Given the description of an element on the screen output the (x, y) to click on. 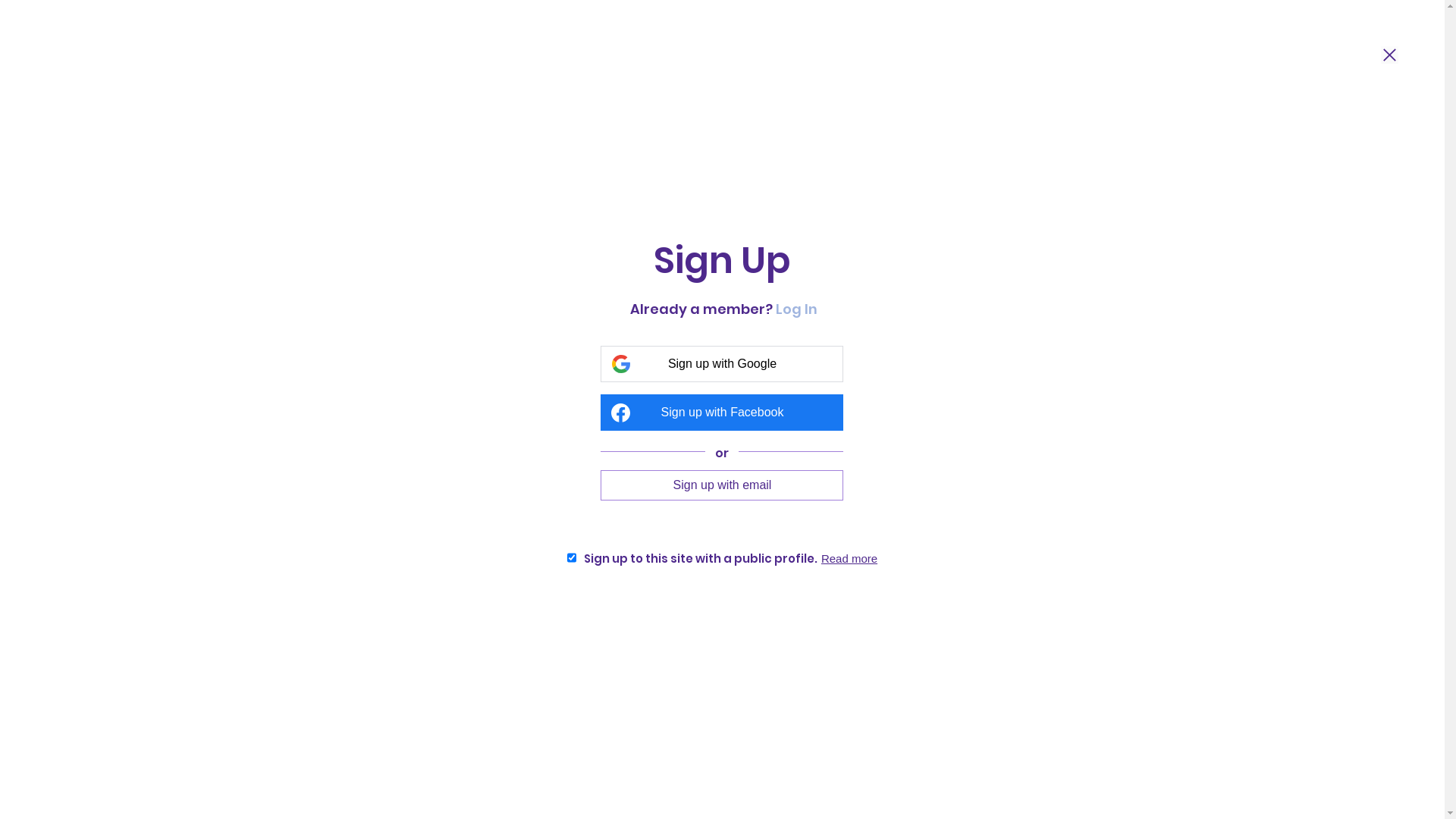
Sign up with Facebook Element type: text (721, 412)
Sign up with email Element type: text (721, 485)
Log In Element type: text (796, 309)
Read more Element type: text (849, 558)
Sign up with Google Element type: text (721, 363)
